Given the description of an element on the screen output the (x, y) to click on. 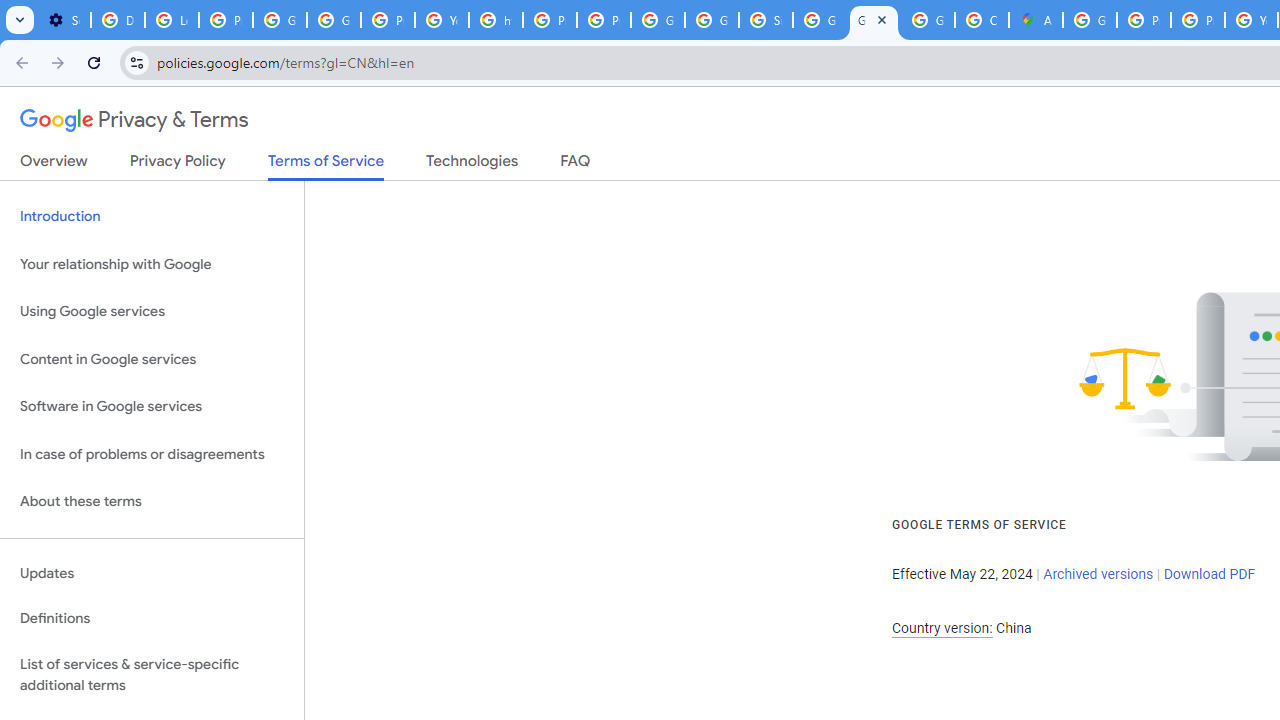
Archived versions (1098, 574)
Settings - On startup (63, 20)
In case of problems or disagreements (152, 453)
Privacy Help Center - Policies Help (1197, 20)
Create your Google Account (981, 20)
Your relationship with Google (152, 263)
